Given the description of an element on the screen output the (x, y) to click on. 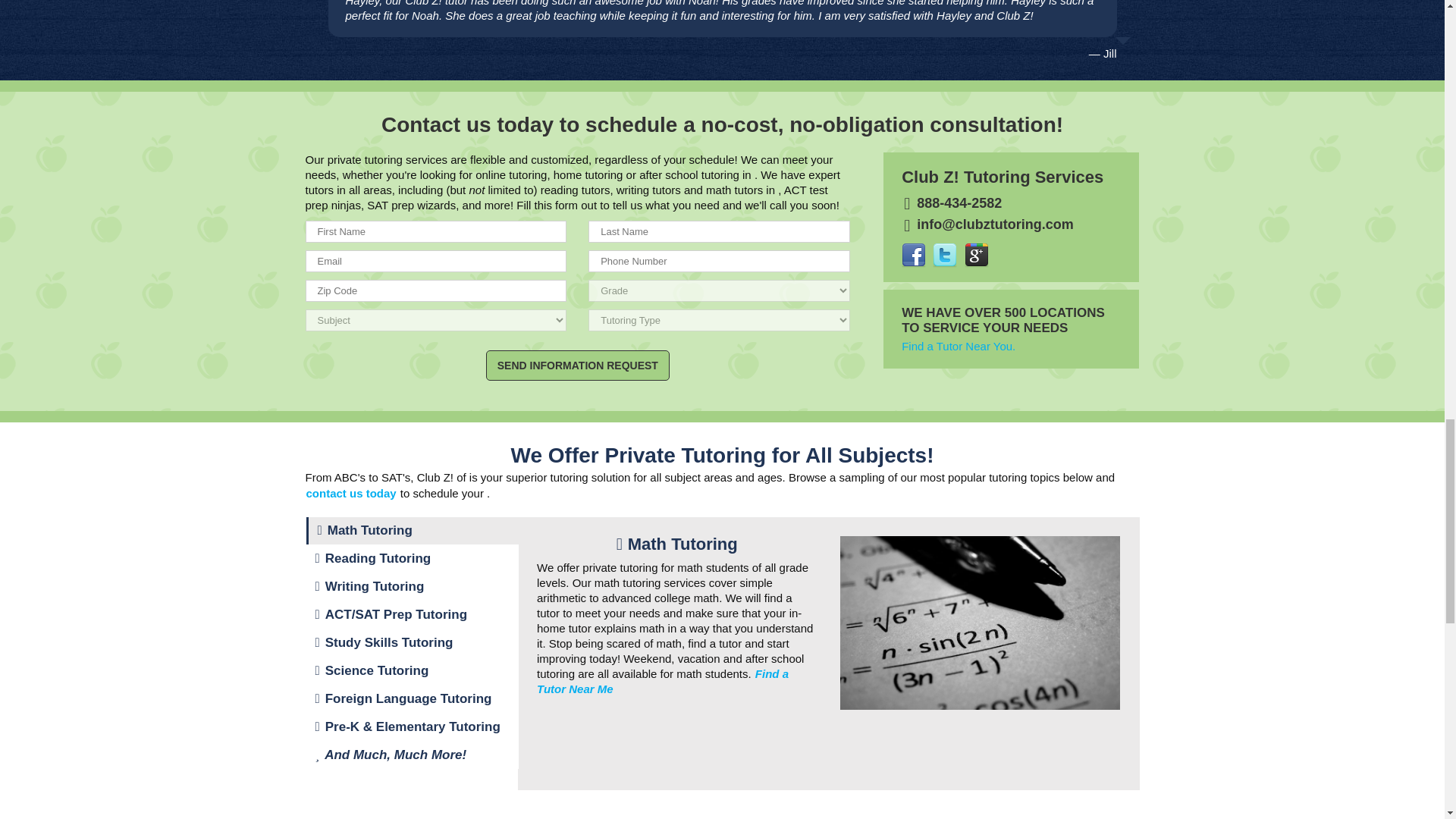
Send Information Request (577, 365)
